Given the description of an element on the screen output the (x, y) to click on. 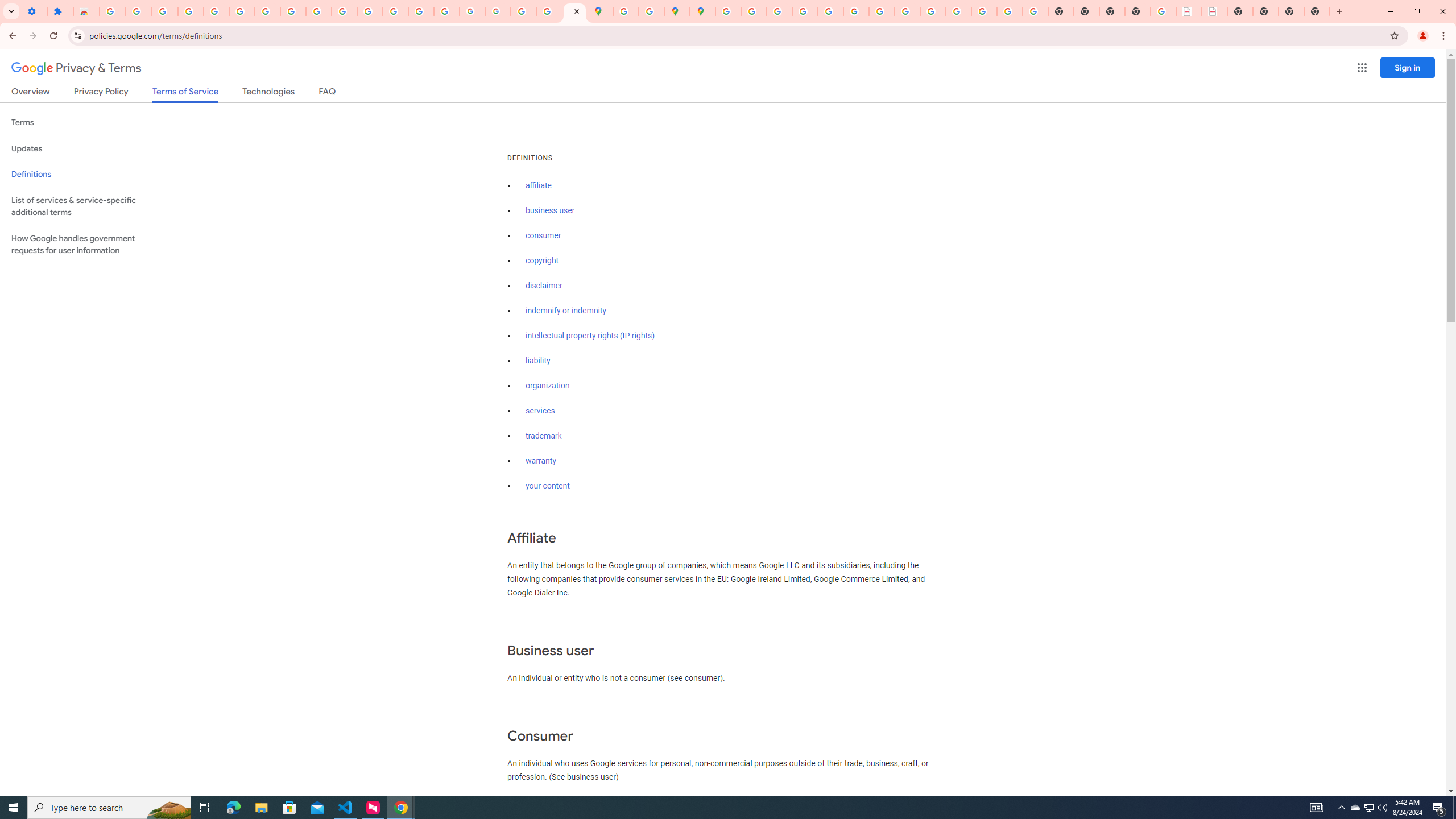
Reviews: Helix Fruit Jump Arcade Game (86, 11)
LAAD Defence & Security 2025 | BAE Systems (1188, 11)
Minimize (1390, 11)
affiliate (538, 185)
How Google handles government requests for user information (86, 244)
indemnify or indemnity (565, 311)
Forward (32, 35)
Browse Chrome as a guest - Computer - Google Chrome Help (907, 11)
Delete photos & videos - Computer - Google Photos Help (165, 11)
Privacy & Terms (76, 68)
